Given the description of an element on the screen output the (x, y) to click on. 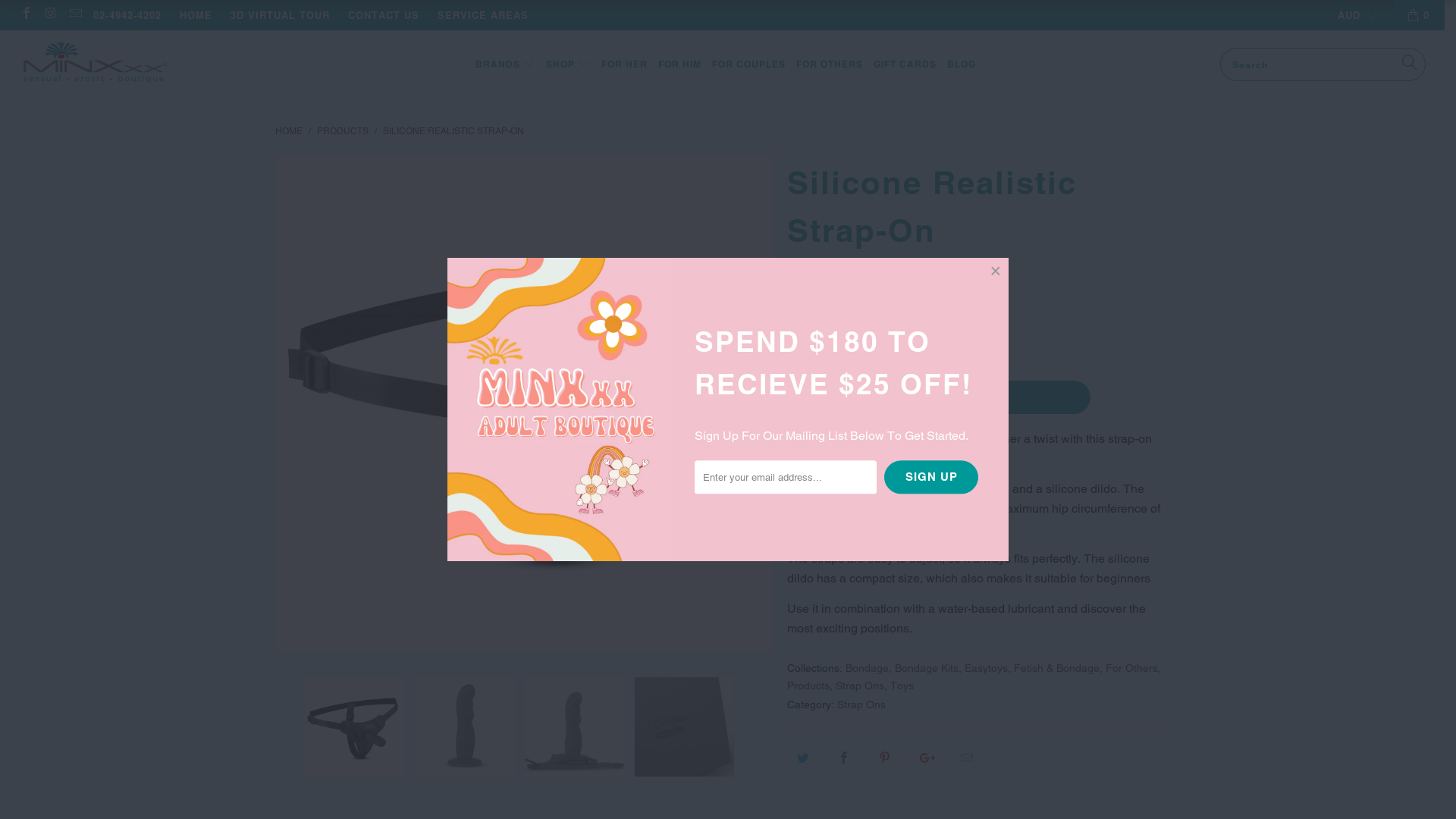
BLOG Element type: text (961, 64)
ADD TO CART Element type: text (938, 397)
Sign Up Element type: text (931, 477)
BRANDS Element type: text (505, 64)
Share this on Google+ Element type: hover (926, 757)
SERVICE AREAS Element type: text (482, 15)
3D VIRTUAL TOUR Element type: text (279, 15)
Strap Ons Element type: text (859, 685)
Easytoys Element type: text (985, 668)
FOR OTHERS Element type: text (829, 64)
Share this on Facebook Element type: hover (844, 757)
For Others Element type: text (1131, 668)
02-4942-4202 Element type: text (127, 15)
0 Element type: text (1419, 15)
Toys Element type: text (901, 685)
SHOP Element type: text (567, 64)
Fetish & Bondage Element type: text (1055, 668)
Bondage Element type: text (866, 668)
PRODUCTS Element type: text (343, 130)
Strap Ons Element type: text (861, 704)
FOR HER Element type: text (624, 64)
GIFT CARDS Element type: text (904, 64)
Products Element type: text (808, 685)
Minxxx Adult Boutique on Facebook Element type: hover (25, 14)
Minxxx Adult Boutique Element type: hover (123, 63)
SILICONE REALISTIC STRAP-ON Element type: text (452, 130)
Bondage Kits Element type: text (926, 668)
HOME Element type: text (287, 130)
FOR HIM Element type: text (679, 64)
Email Minxxx Adult Boutique Element type: hover (74, 14)
Share this on Twitter Element type: hover (803, 757)
Minxxx Adult Boutique on Instagram Element type: hover (49, 14)
FOR COUPLES Element type: text (748, 64)
Email this to a friend Element type: hover (967, 757)
HOME Element type: text (195, 15)
CONTACT US Element type: text (383, 15)
Share this on Pinterest Element type: hover (885, 757)
